Given the description of an element on the screen output the (x, y) to click on. 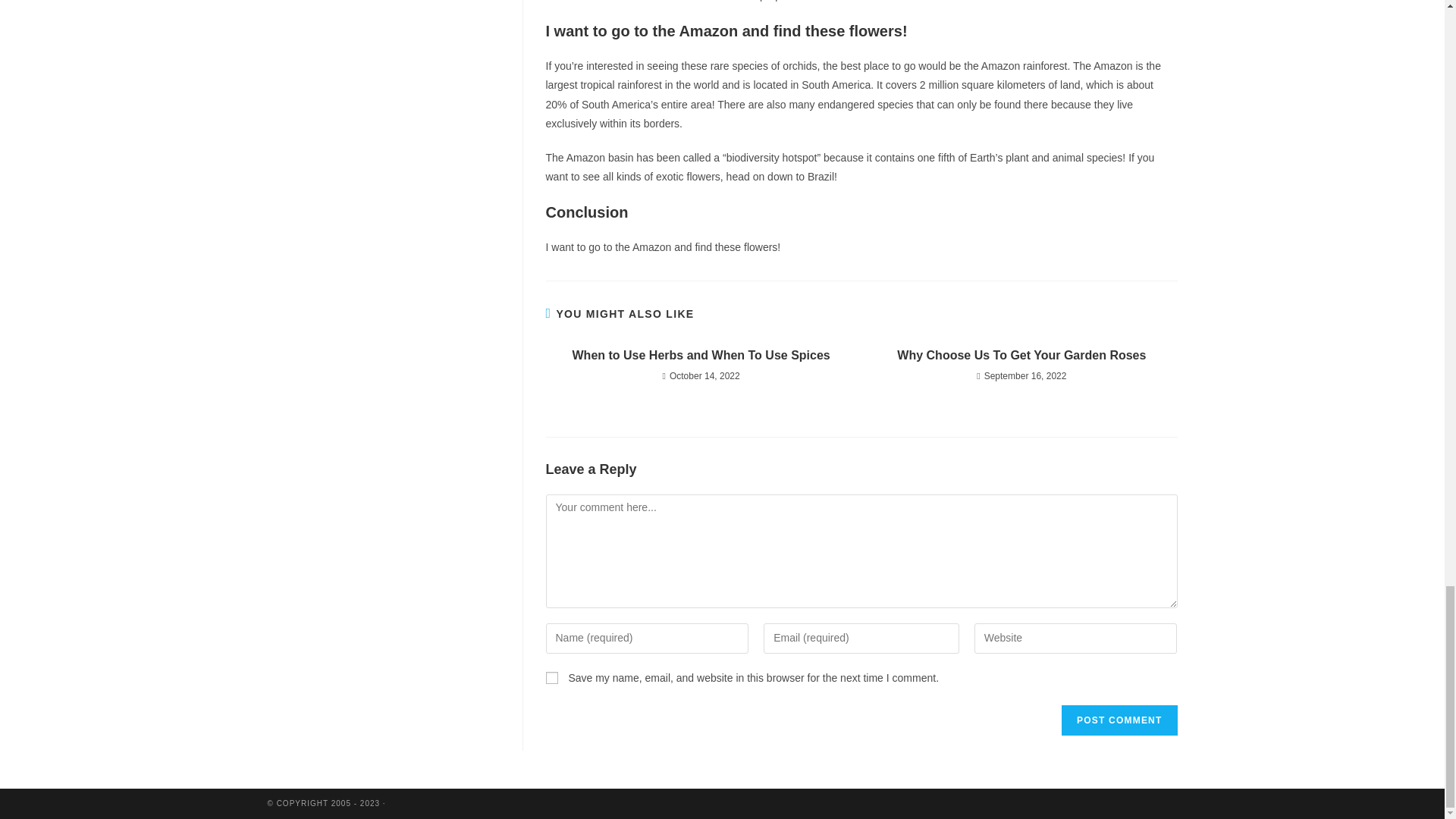
yes (551, 677)
Why Choose Us To Get Your Garden Roses (1021, 355)
Post Comment (1118, 720)
Post Comment (1118, 720)
When to Use Herbs and When To Use Spices (700, 355)
